Given the description of an element on the screen output the (x, y) to click on. 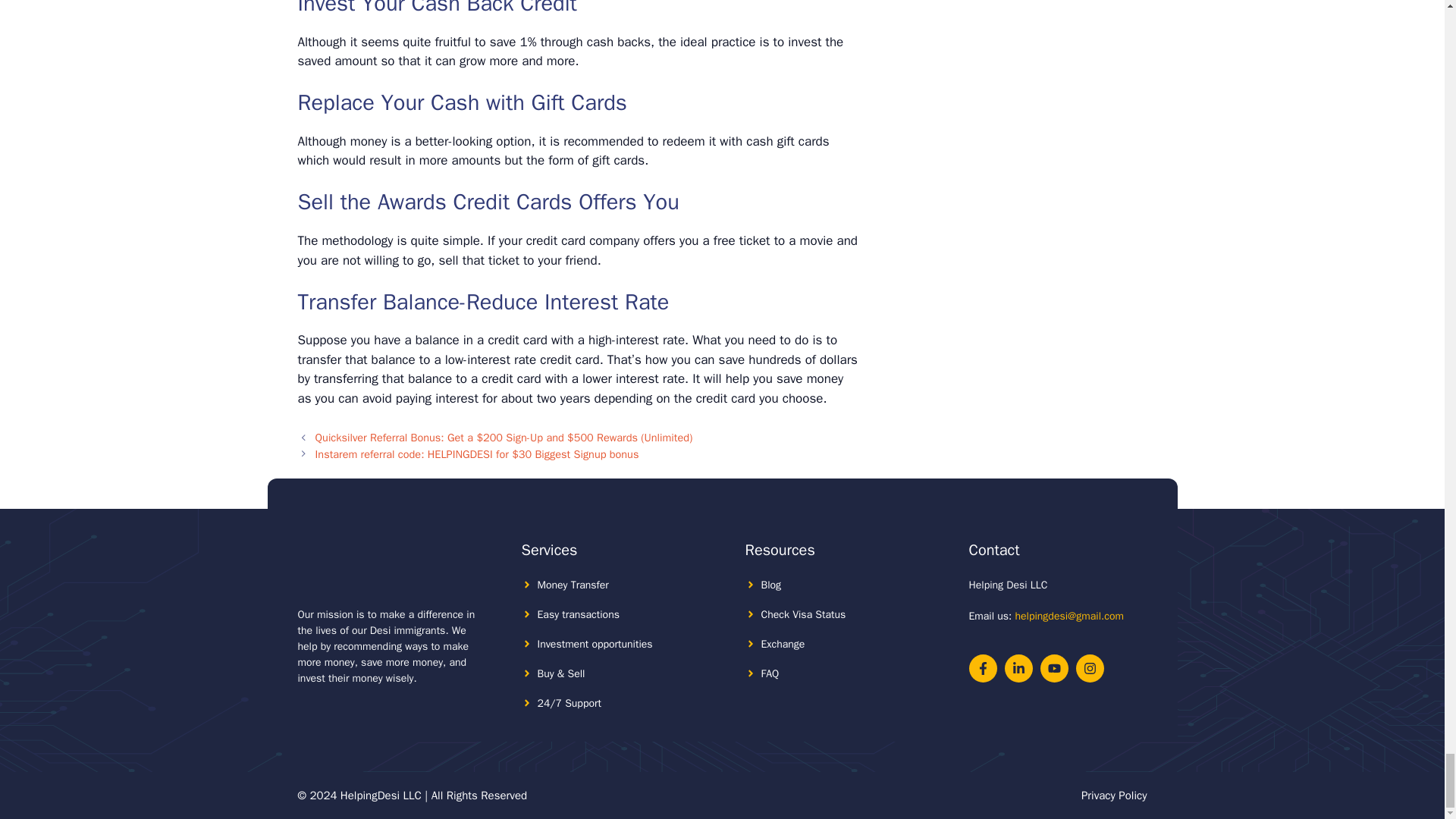
Investment (562, 644)
opportunities (621, 644)
Money Transfer (572, 584)
Easy transactions (578, 614)
